Given the description of an element on the screen output the (x, y) to click on. 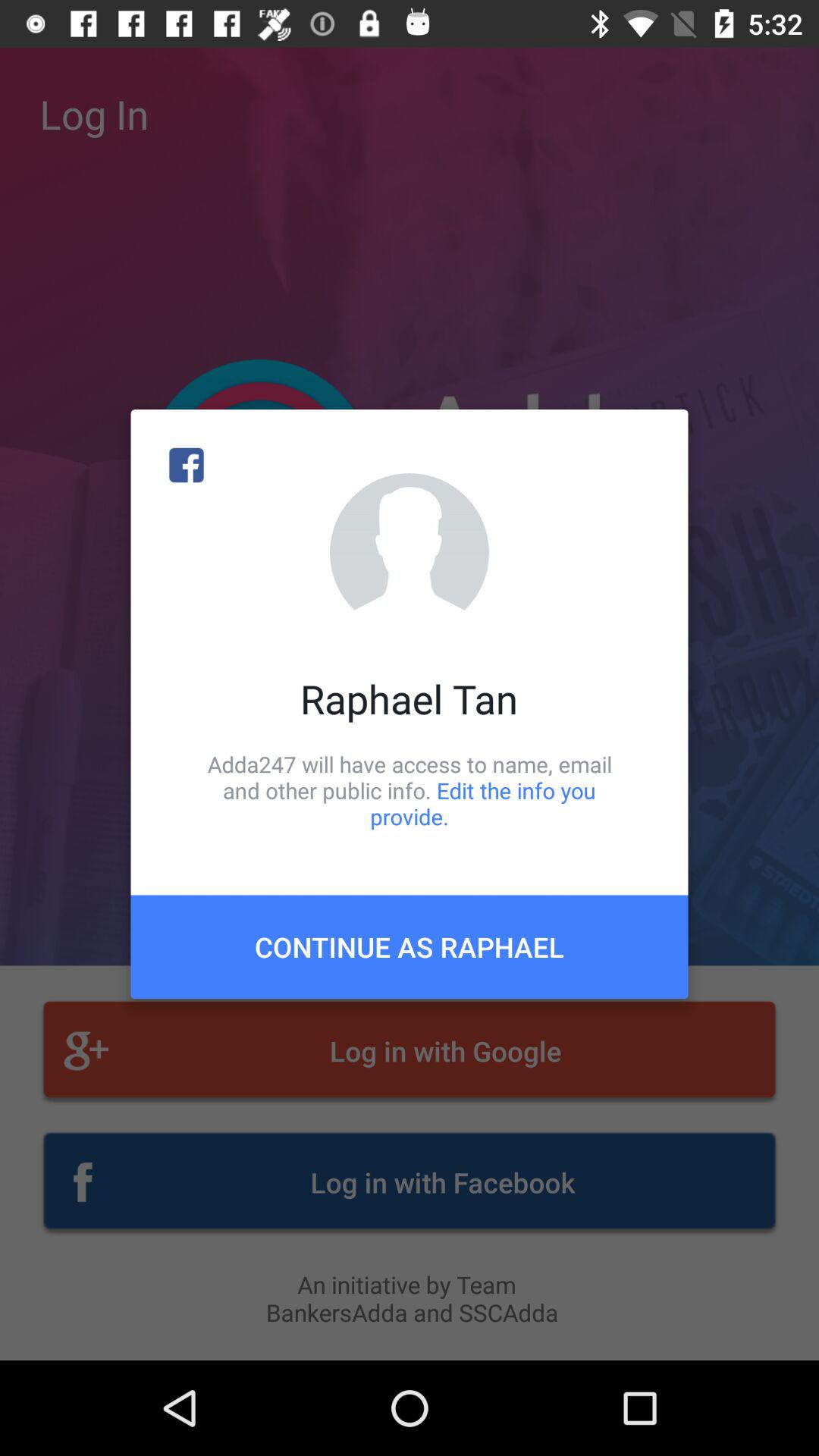
press adda247 will have item (409, 790)
